Given the description of an element on the screen output the (x, y) to click on. 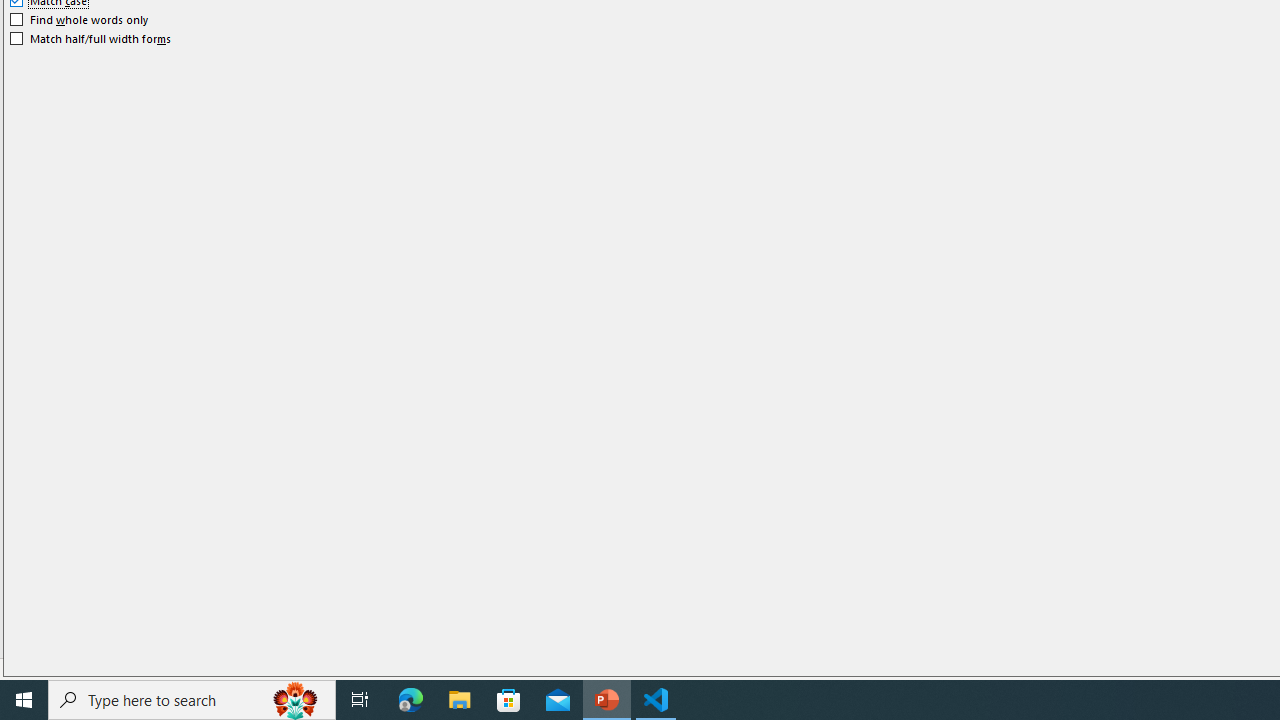
Match half/full width forms (91, 38)
Find whole words only (79, 20)
